Given the description of an element on the screen output the (x, y) to click on. 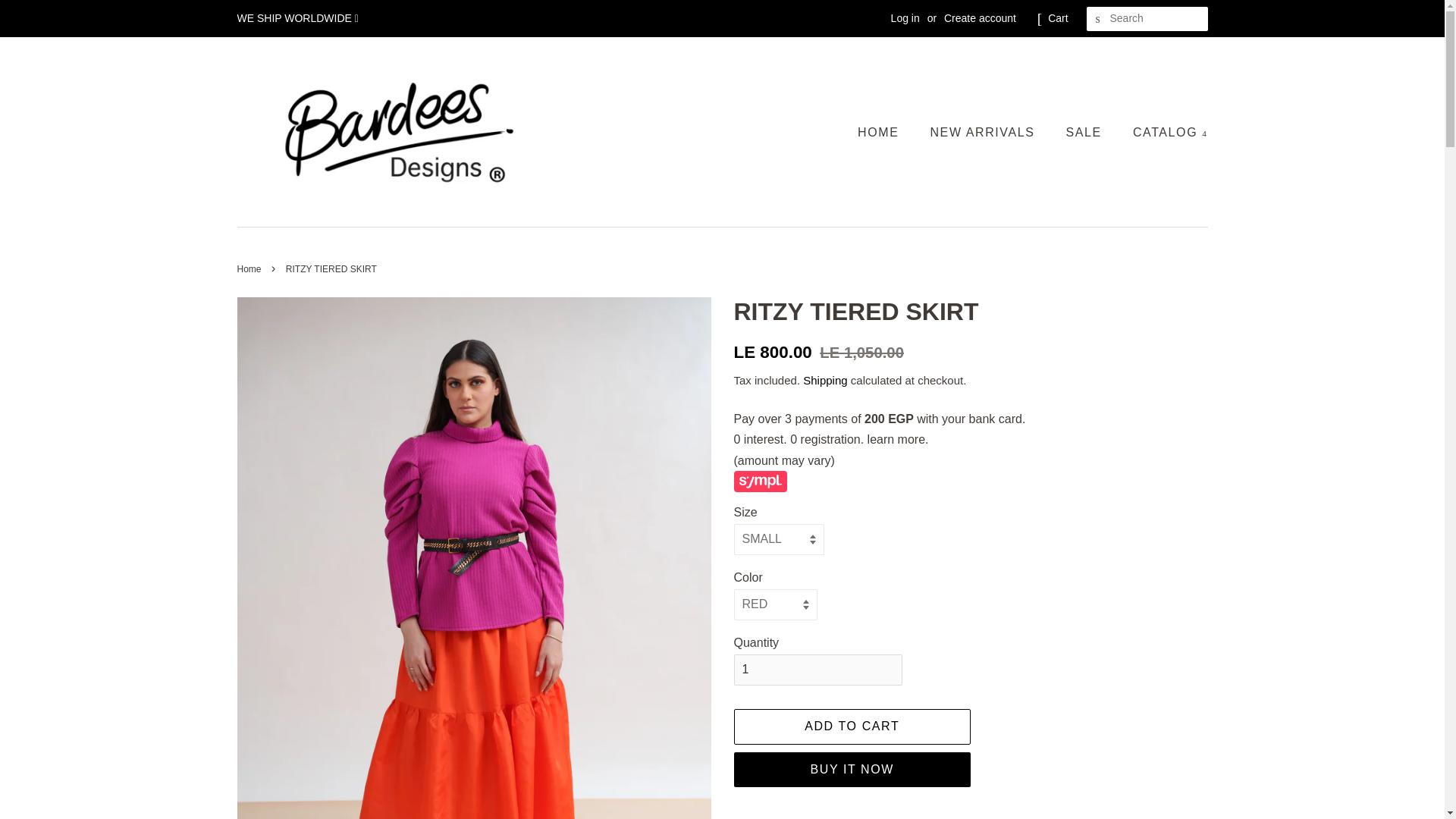
1 (817, 669)
Create account (979, 18)
Cart (1057, 18)
CATALOG (1164, 132)
SEARCH (1097, 18)
Log in (905, 18)
SALE (1085, 132)
HOME (885, 132)
Back to the frontpage (249, 268)
NEW ARRIVALS (983, 132)
